Given the description of an element on the screen output the (x, y) to click on. 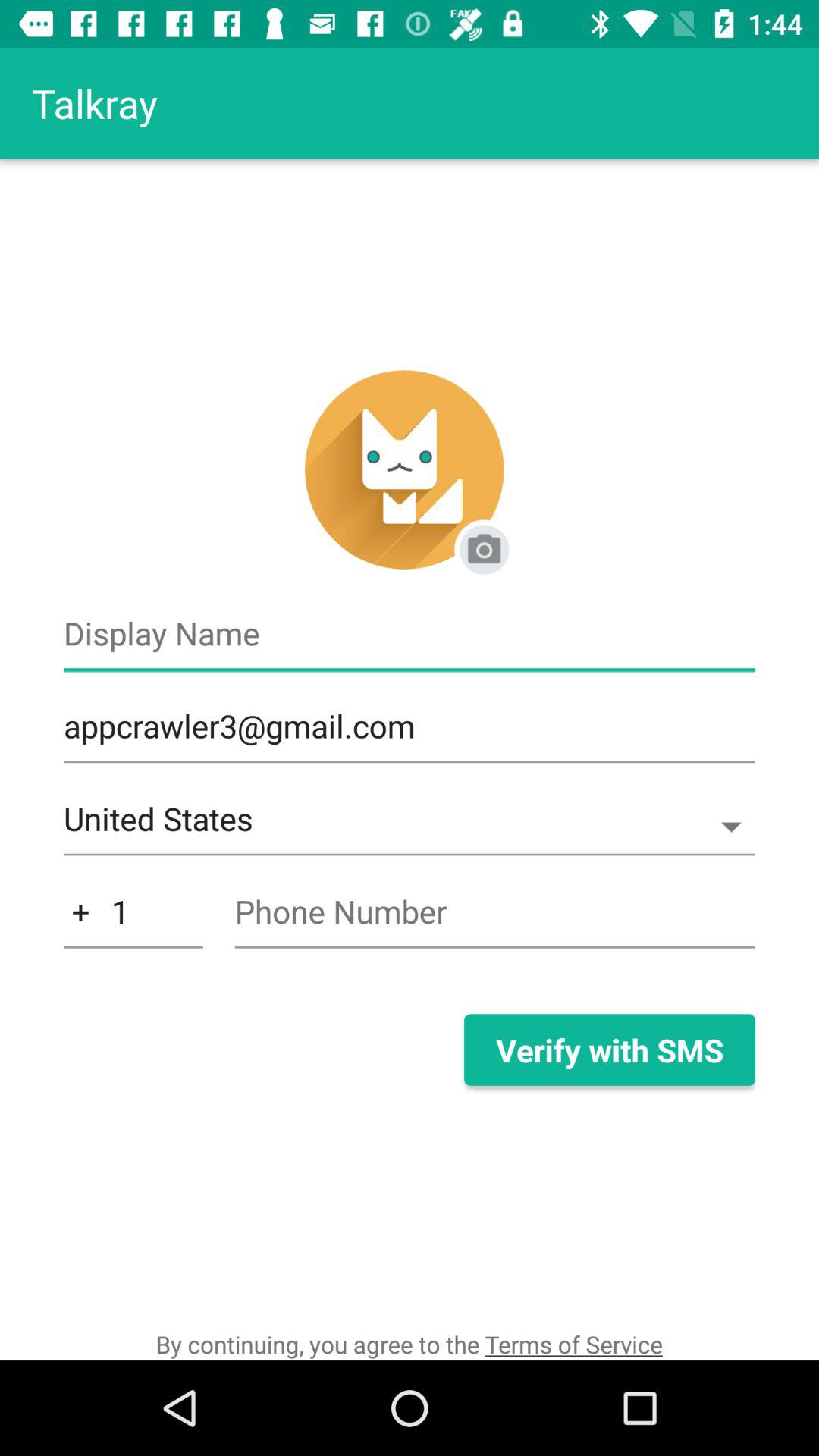
choose united states icon (409, 826)
